Given the description of an element on the screen output the (x, y) to click on. 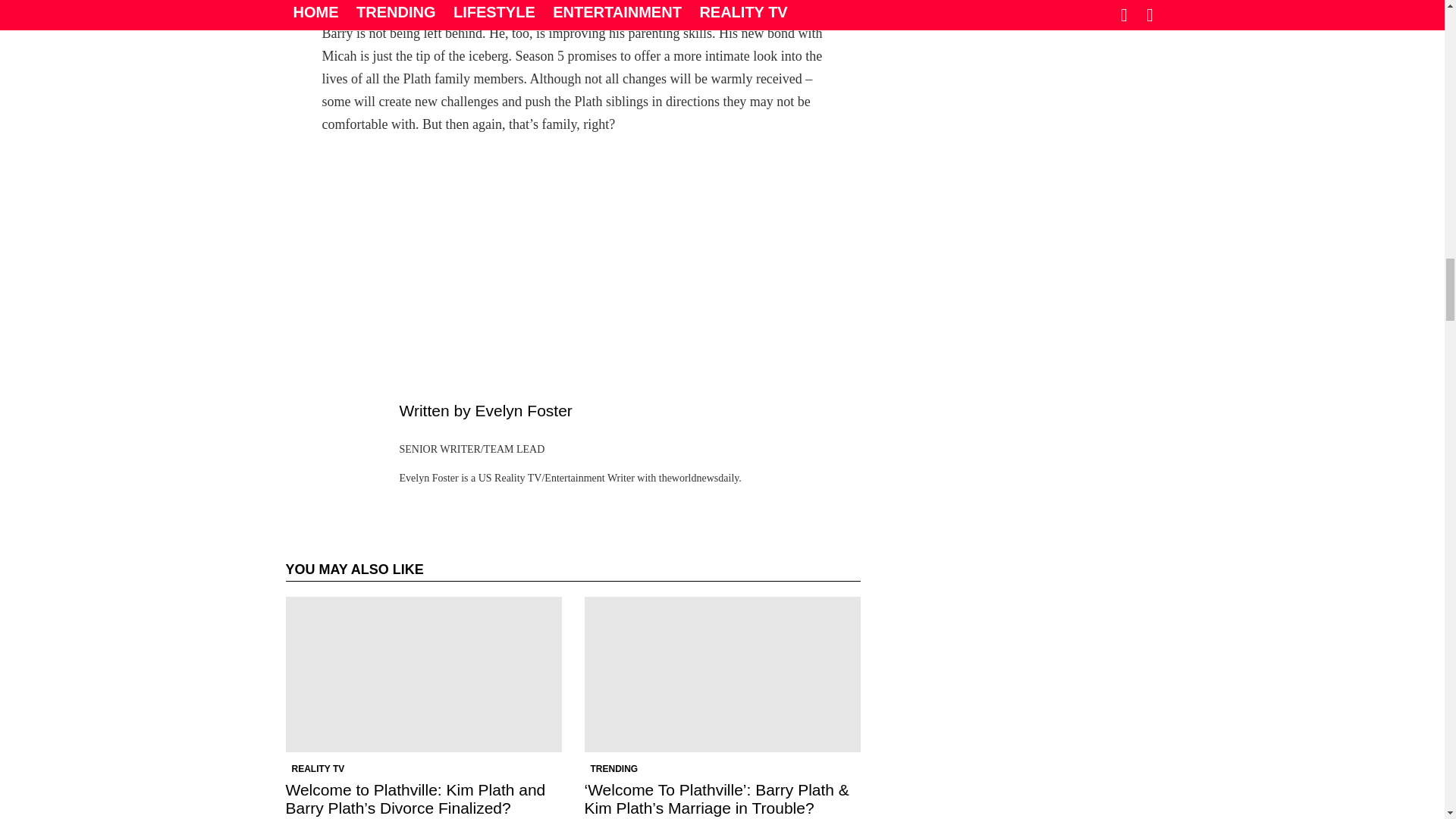
Evelyn Foster (523, 410)
REALITY TV (317, 768)
TRENDING (613, 768)
